Given the description of an element on the screen output the (x, y) to click on. 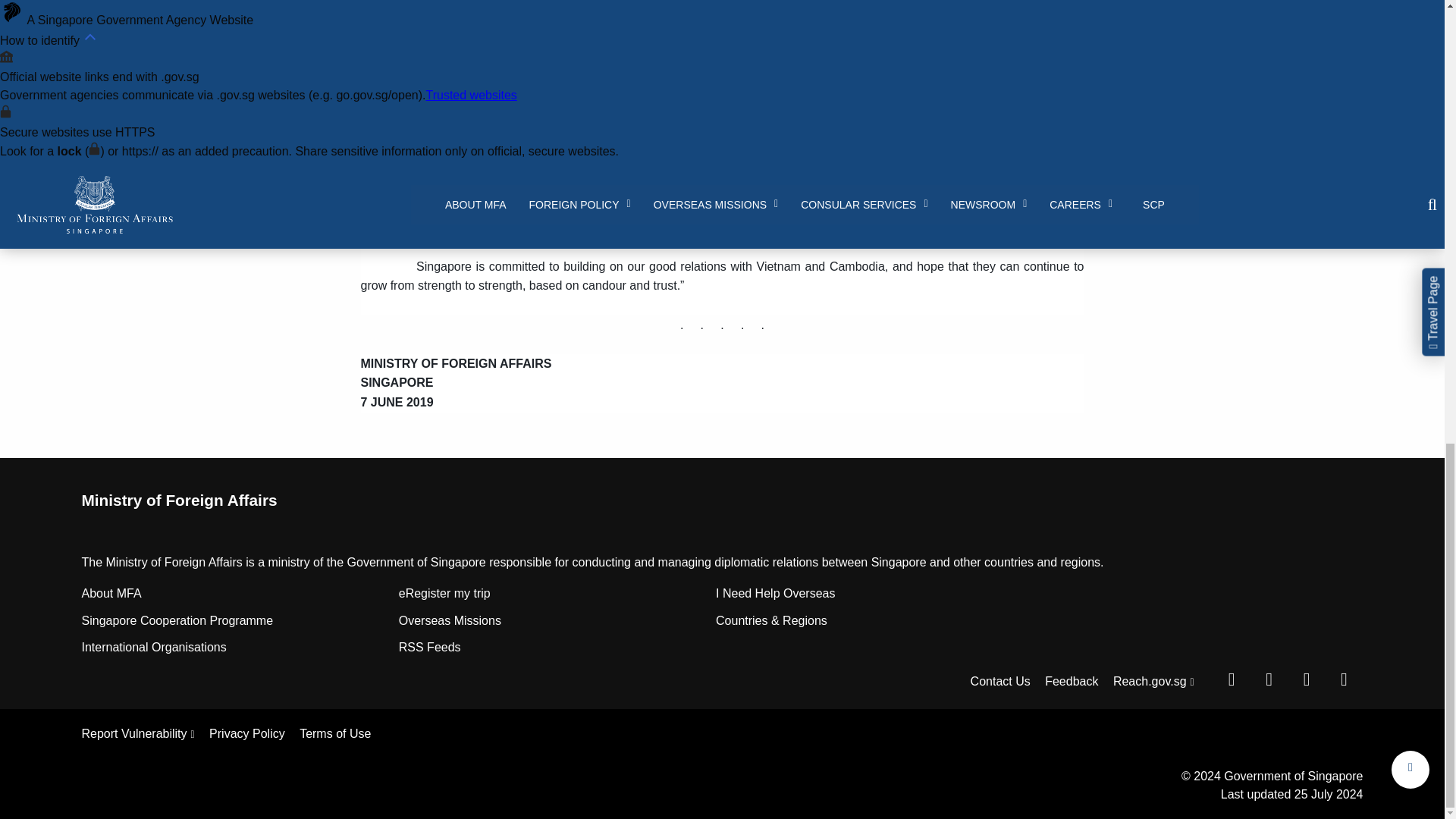
MFA Instagram (1306, 679)
MFA Email (1342, 679)
MFA Facebook (1230, 679)
MFA Twitter (1268, 679)
